Given the description of an element on the screen output the (x, y) to click on. 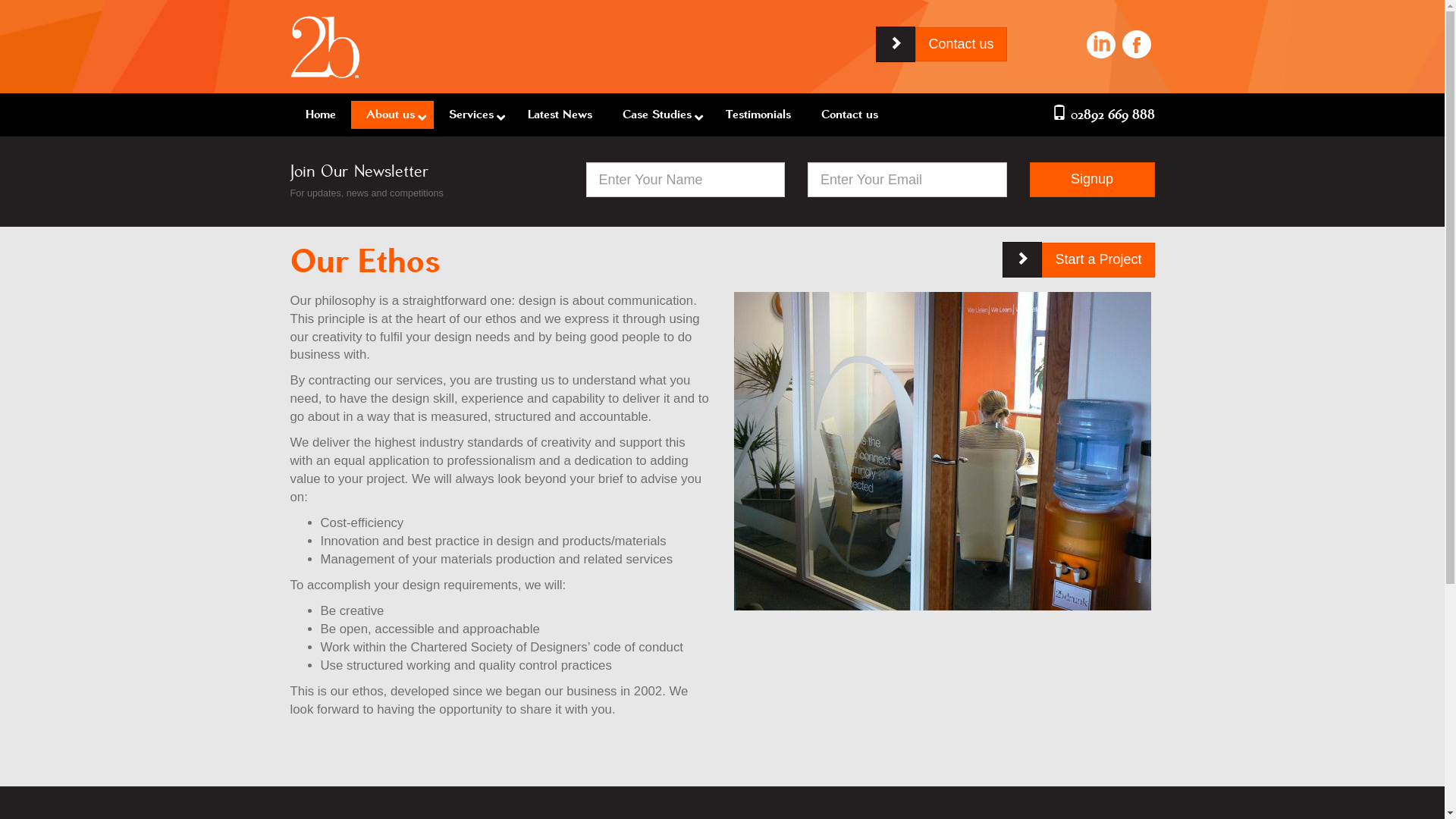
Signup Element type: text (1091, 179)
2b:creative Linkedin Element type: hover (1100, 42)
slide5 Element type: hover (942, 450)
Services Element type: text (472, 114)
2b:creative Facebook Element type: hover (1136, 42)
Home Element type: text (319, 114)
Contact us Element type: text (960, 44)
Testimonials Element type: text (757, 114)
Latest News Element type: text (559, 114)
Start a Project Element type: text (1097, 259)
Contact us Element type: text (848, 114)
 -  Element type: hover (323, 45)
